Given the description of an element on the screen output the (x, y) to click on. 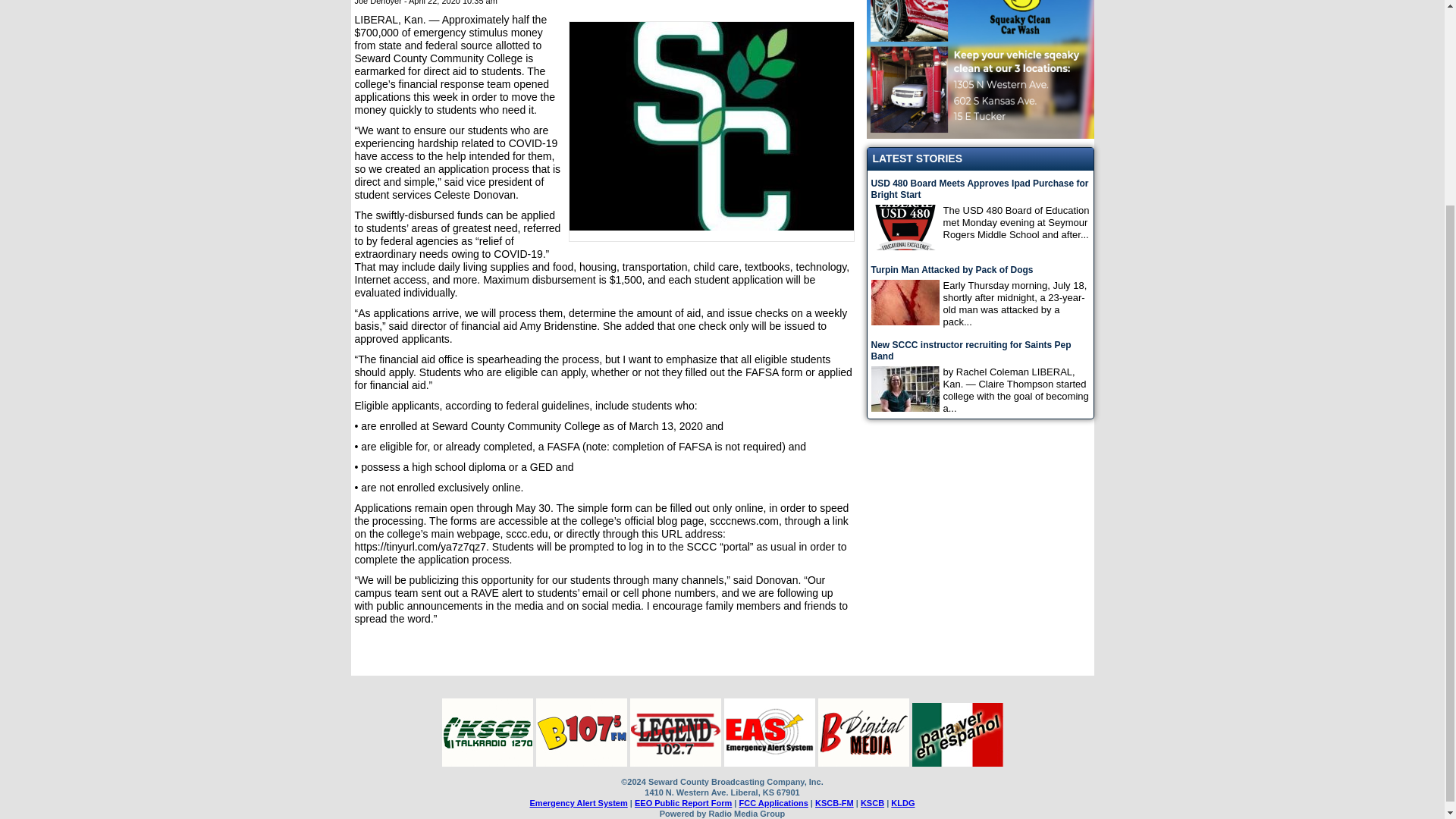
USD 480 Board Meets Approves Ipad Purchase for Bright Start (979, 189)
Turpin Man Attacked by Pack of Dogs (979, 270)
New SCCC instructor recruiting for Saints Pep Band (979, 350)
